Given the description of an element on the screen output the (x, y) to click on. 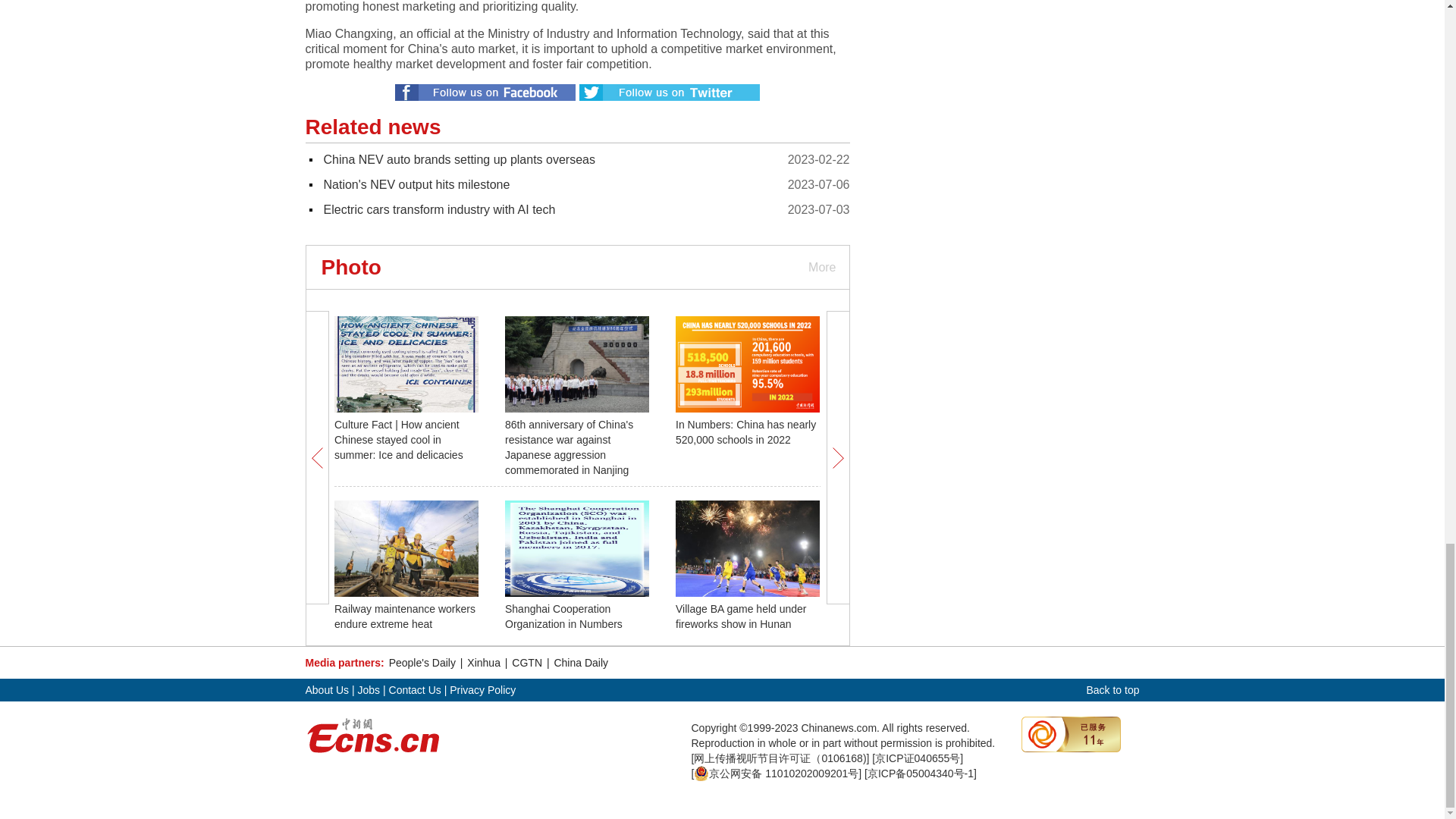
Electric cars transform industry with AI tech (438, 209)
Village BA game held under fireworks show in Hunan (740, 615)
Nation's NEV output hits milestone (416, 184)
Railway maintenance workers endure extreme heat (405, 615)
Shanghai Cooperation Organization in Numbers (564, 615)
China NEV auto brands setting up plants overseas (458, 159)
In Numbers: China has nearly 520,000 schools in 2022 (745, 431)
